Given the description of an element on the screen output the (x, y) to click on. 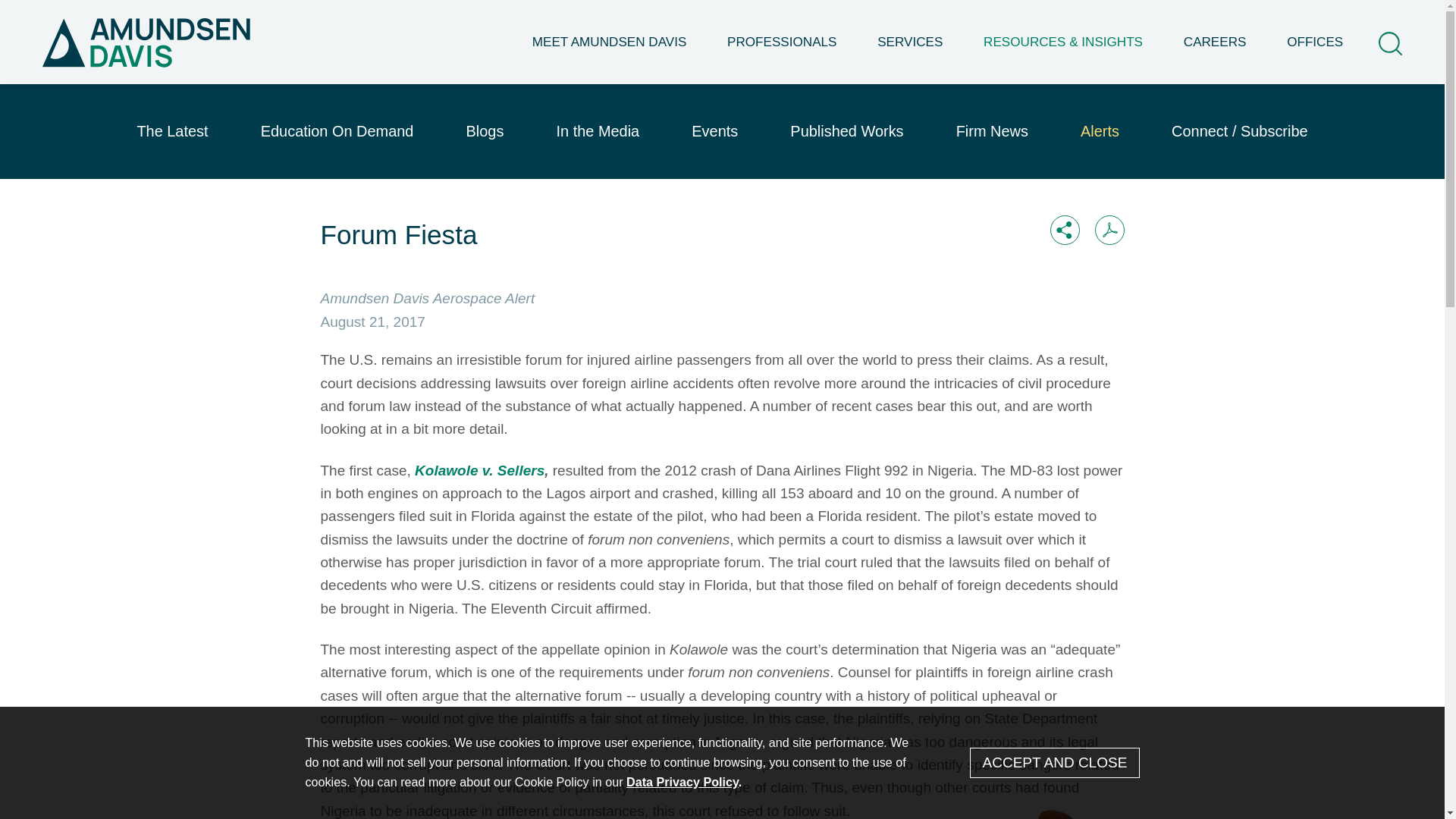
PROFESSIONALS (781, 54)
Menu (674, 19)
SERVICES (909, 54)
Main Menu (674, 19)
Search (1390, 43)
MEET AMUNDSEN DAVIS (609, 54)
Share (1063, 229)
OFFICES (1314, 54)
Main Content (667, 19)
CAREERS (1214, 54)
